Given the description of an element on the screen output the (x, y) to click on. 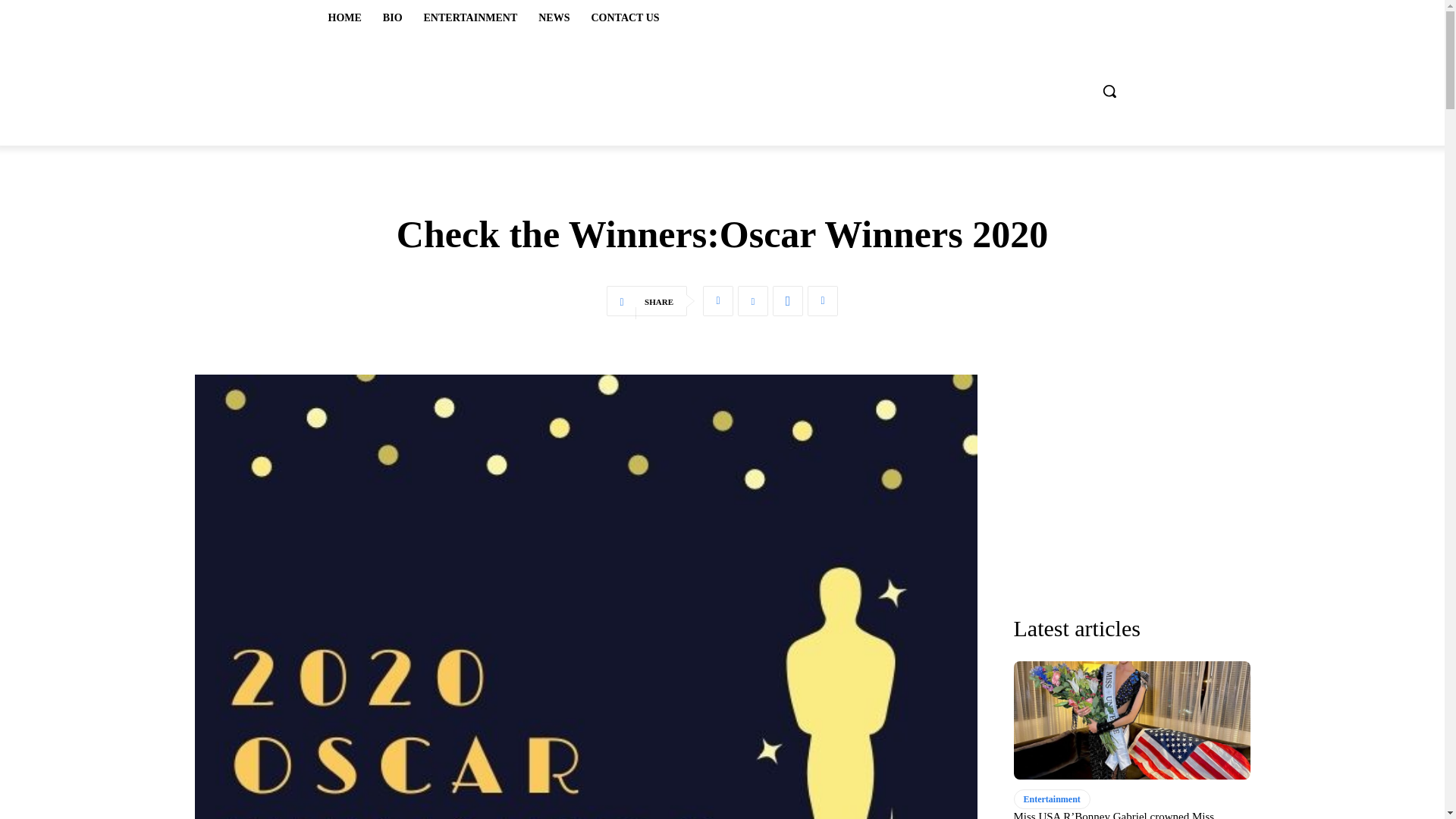
ENTERTAINMENT (470, 18)
CONTACT US (624, 18)
Facebook (823, 300)
HOME (344, 18)
Entertainment (1051, 799)
WhatsApp (788, 300)
NEWS (553, 18)
Twitter (718, 300)
Pinterest (753, 300)
BIO (392, 18)
